Given the description of an element on the screen output the (x, y) to click on. 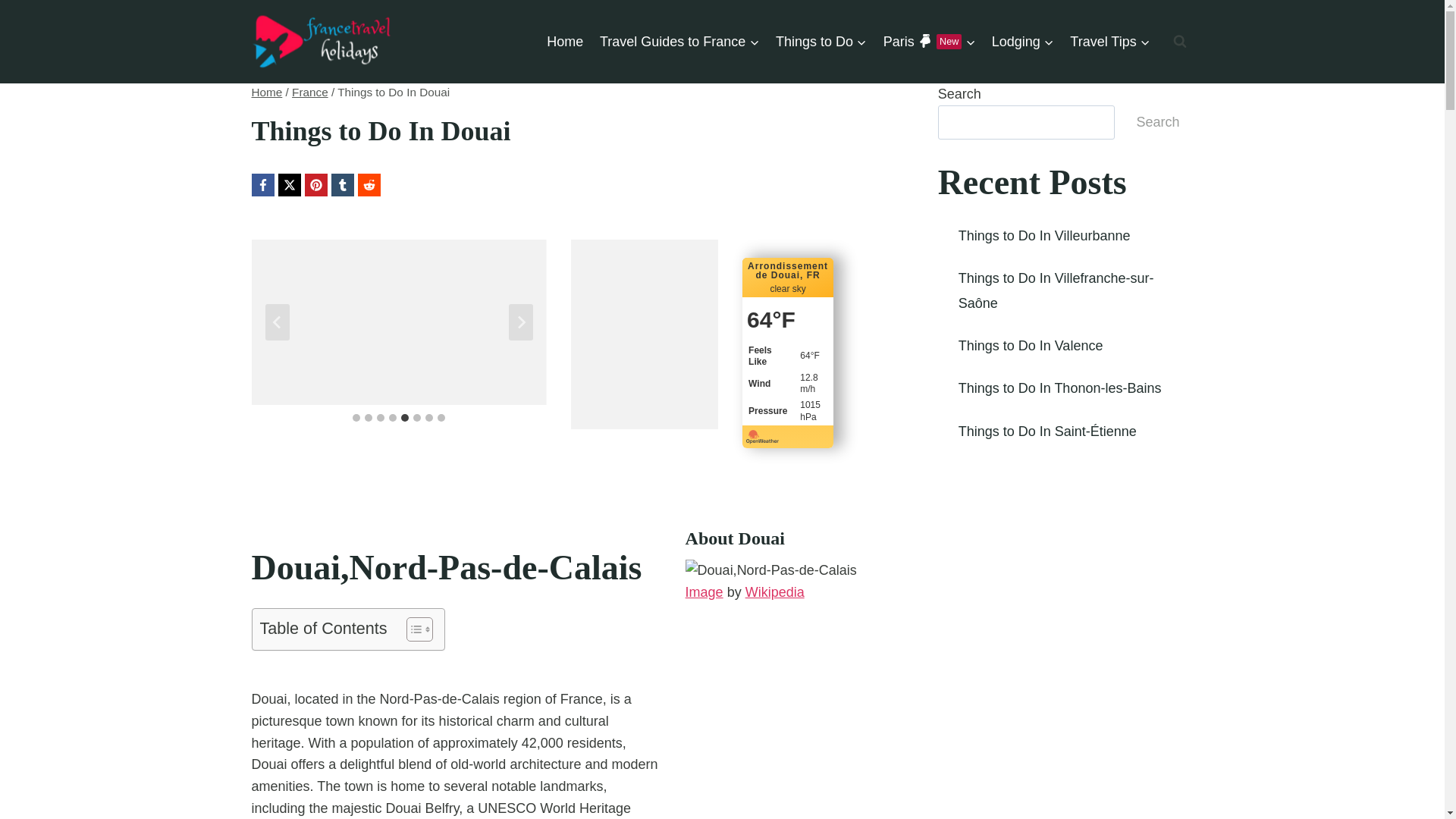
Home (929, 41)
Home (565, 41)
Travel Tips (266, 91)
France (1110, 41)
Lodging (310, 91)
Travel Guides to France (1023, 41)
Things to Do (679, 41)
